Given the description of an element on the screen output the (x, y) to click on. 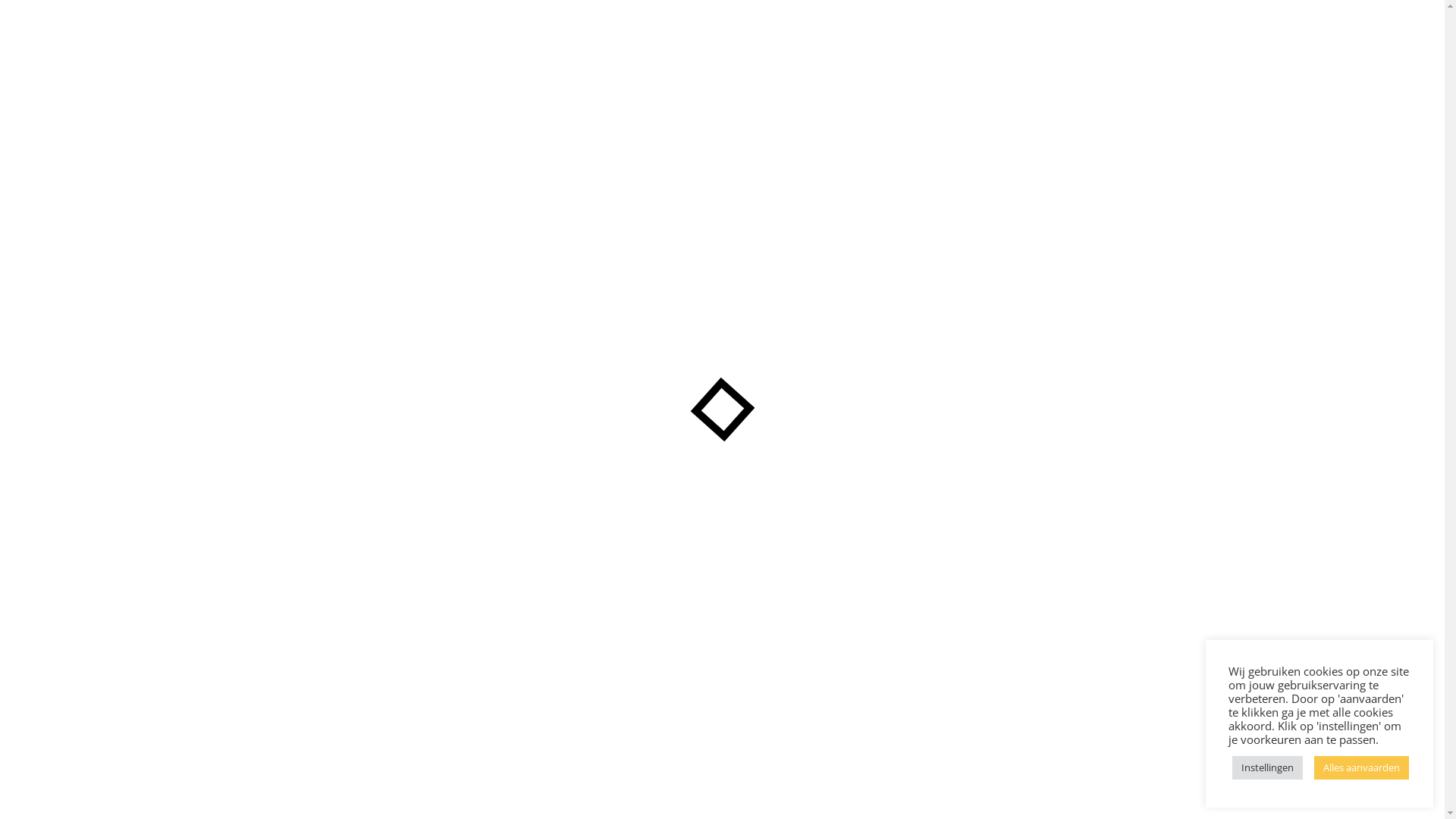
+32 (0)51 204 941 Element type: text (1160, 138)
Coffee lab Element type: text (461, 138)
info@cynthiajacobs.be Element type: text (1172, 156)
Alles aanvaarden Element type: text (1361, 767)
Jewellery Element type: text (457, 156)
Instellingen Element type: text (1267, 767)
